Given the description of an element on the screen output the (x, y) to click on. 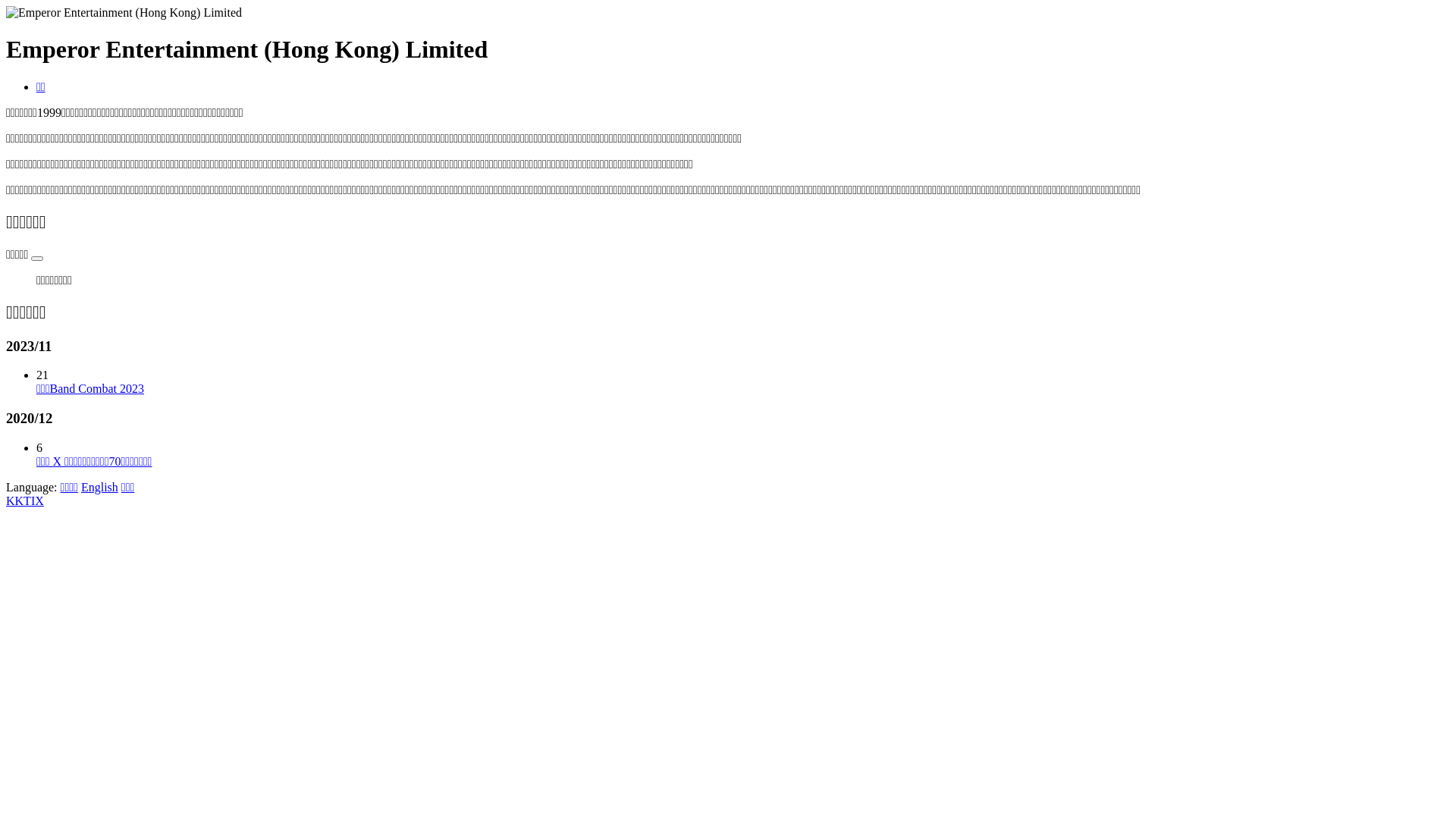
KKTIX Element type: text (24, 500)
English Element type: text (99, 486)
